Given the description of an element on the screen output the (x, y) to click on. 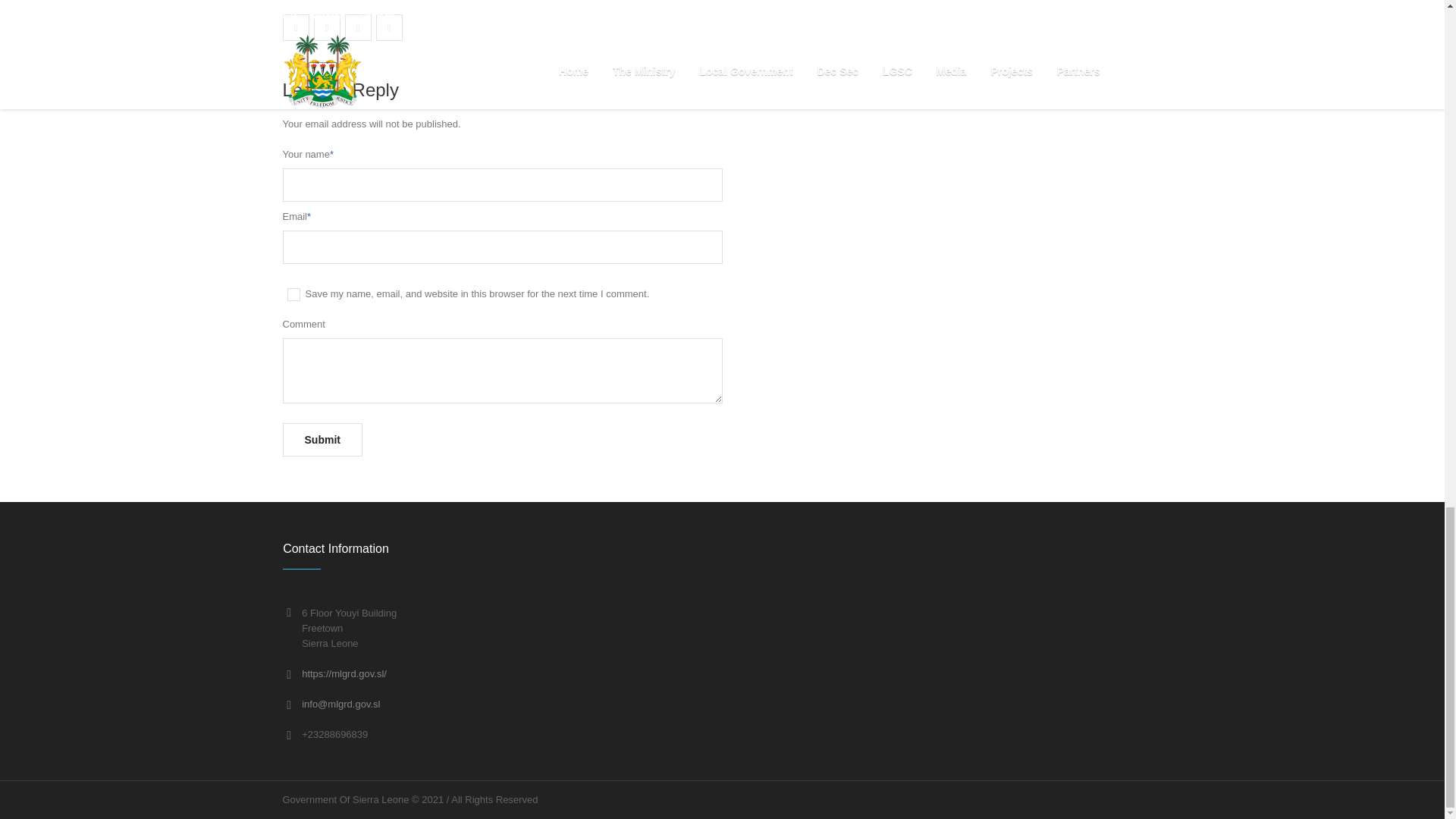
Submit (321, 439)
